Given the description of an element on the screen output the (x, y) to click on. 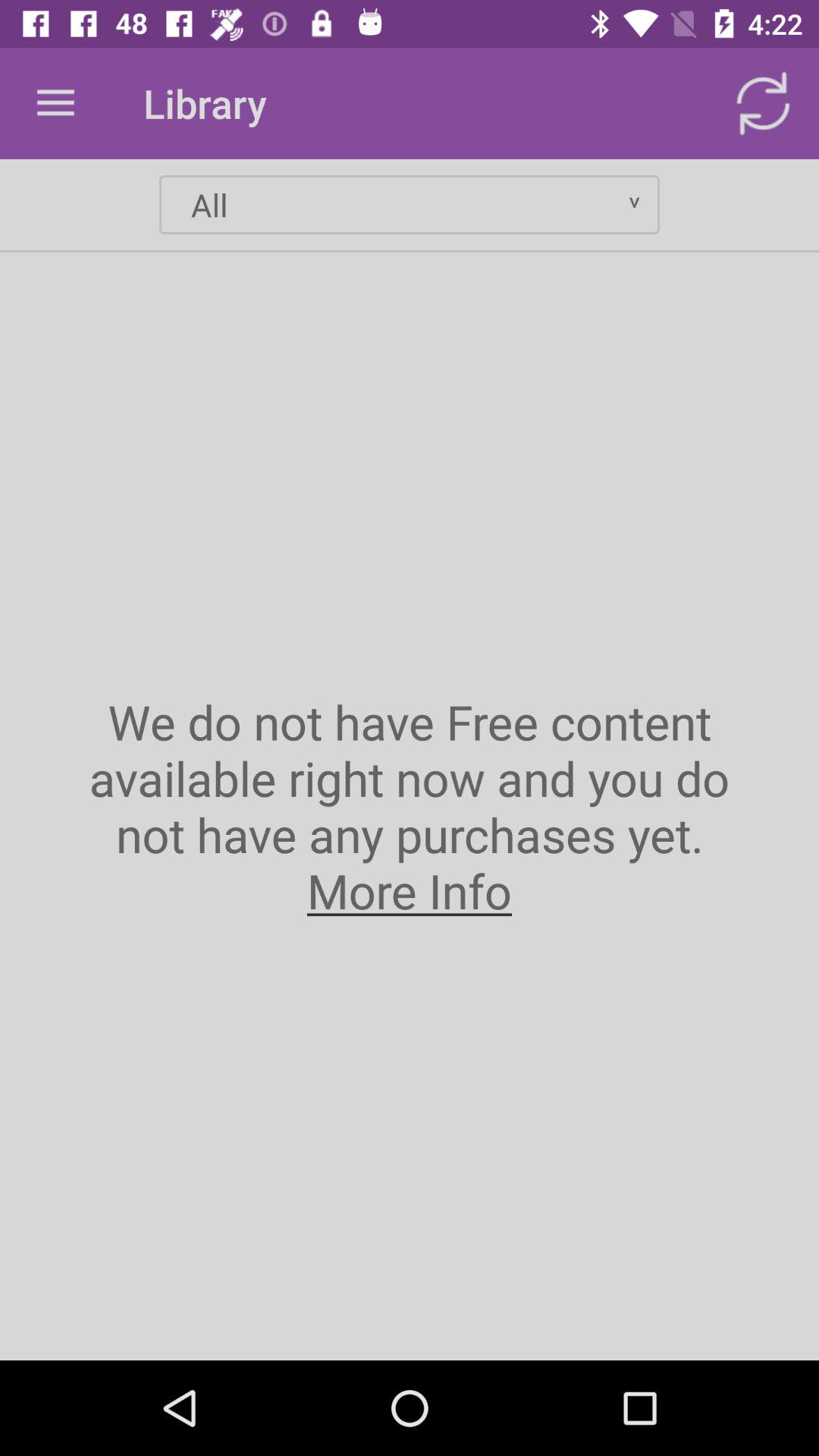
select we do not (409, 805)
